Given the description of an element on the screen output the (x, y) to click on. 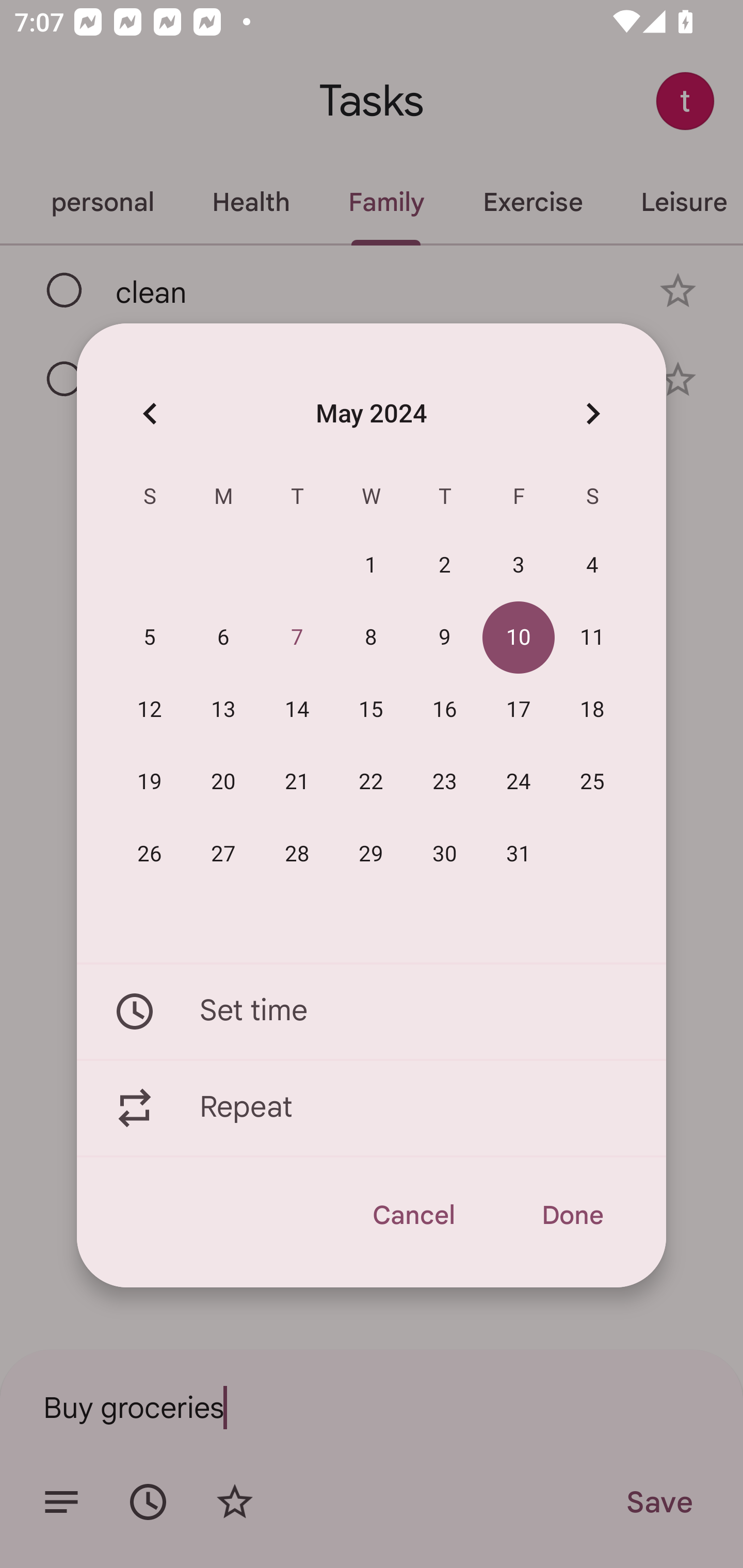
Previous month (149, 413)
Next month (592, 413)
1 01 May 2024 (370, 565)
2 02 May 2024 (444, 565)
3 03 May 2024 (518, 565)
4 04 May 2024 (592, 565)
5 05 May 2024 (149, 638)
6 06 May 2024 (223, 638)
7 07 May 2024 (297, 638)
8 08 May 2024 (370, 638)
9 09 May 2024 (444, 638)
10 10 May 2024 (518, 638)
11 11 May 2024 (592, 638)
12 12 May 2024 (149, 710)
13 13 May 2024 (223, 710)
14 14 May 2024 (297, 710)
15 15 May 2024 (370, 710)
16 16 May 2024 (444, 710)
17 17 May 2024 (518, 710)
18 18 May 2024 (592, 710)
19 19 May 2024 (149, 782)
20 20 May 2024 (223, 782)
21 21 May 2024 (297, 782)
22 22 May 2024 (370, 782)
23 23 May 2024 (444, 782)
24 24 May 2024 (518, 782)
25 25 May 2024 (592, 782)
26 26 May 2024 (149, 854)
27 27 May 2024 (223, 854)
28 28 May 2024 (297, 854)
29 29 May 2024 (370, 854)
30 30 May 2024 (444, 854)
31 31 May 2024 (518, 854)
Set time (371, 1011)
Repeat (371, 1108)
Cancel (412, 1215)
Done (571, 1215)
